Given the description of an element on the screen output the (x, y) to click on. 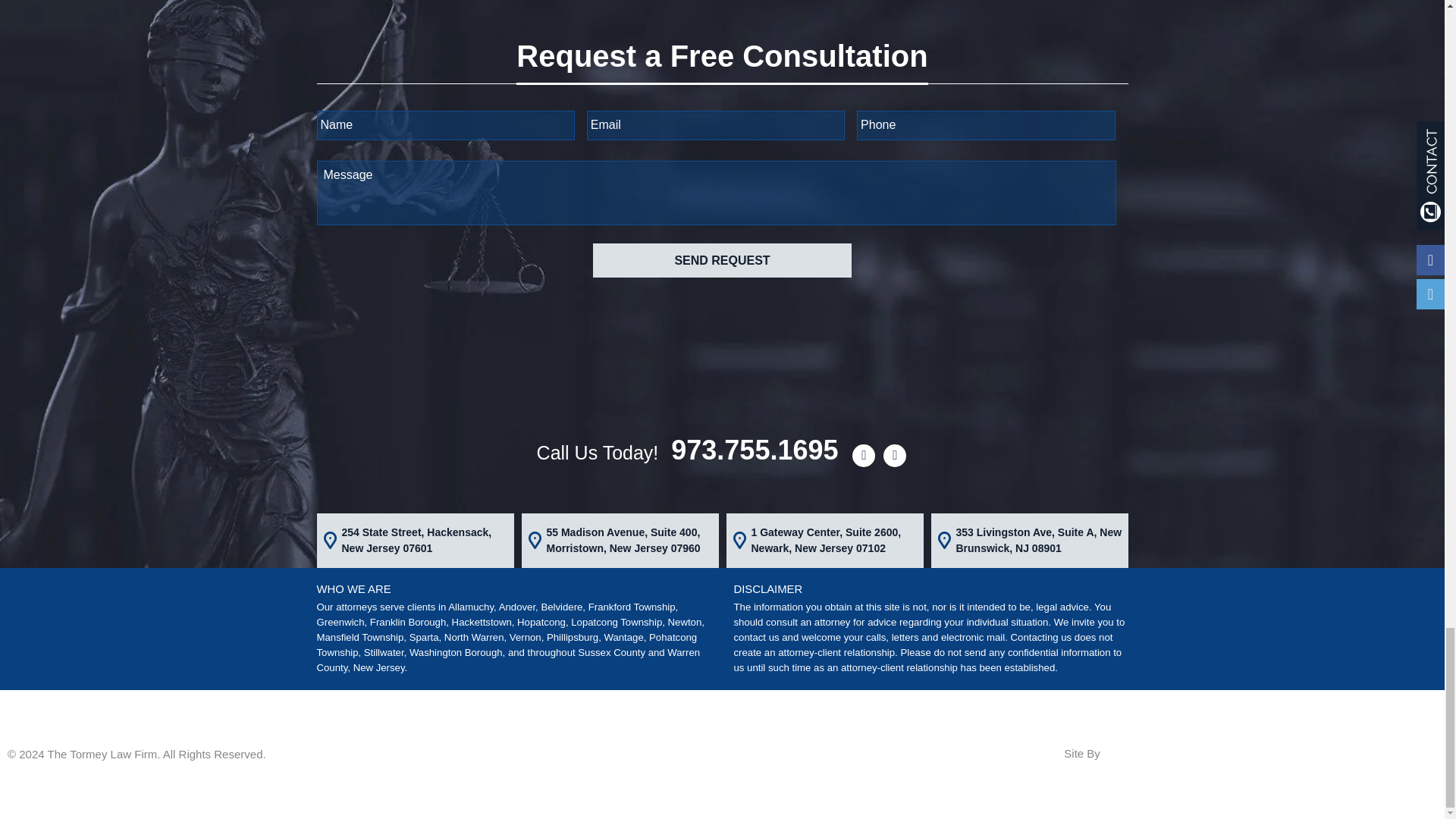
Send Request (721, 260)
